Given the description of an element on the screen output the (x, y) to click on. 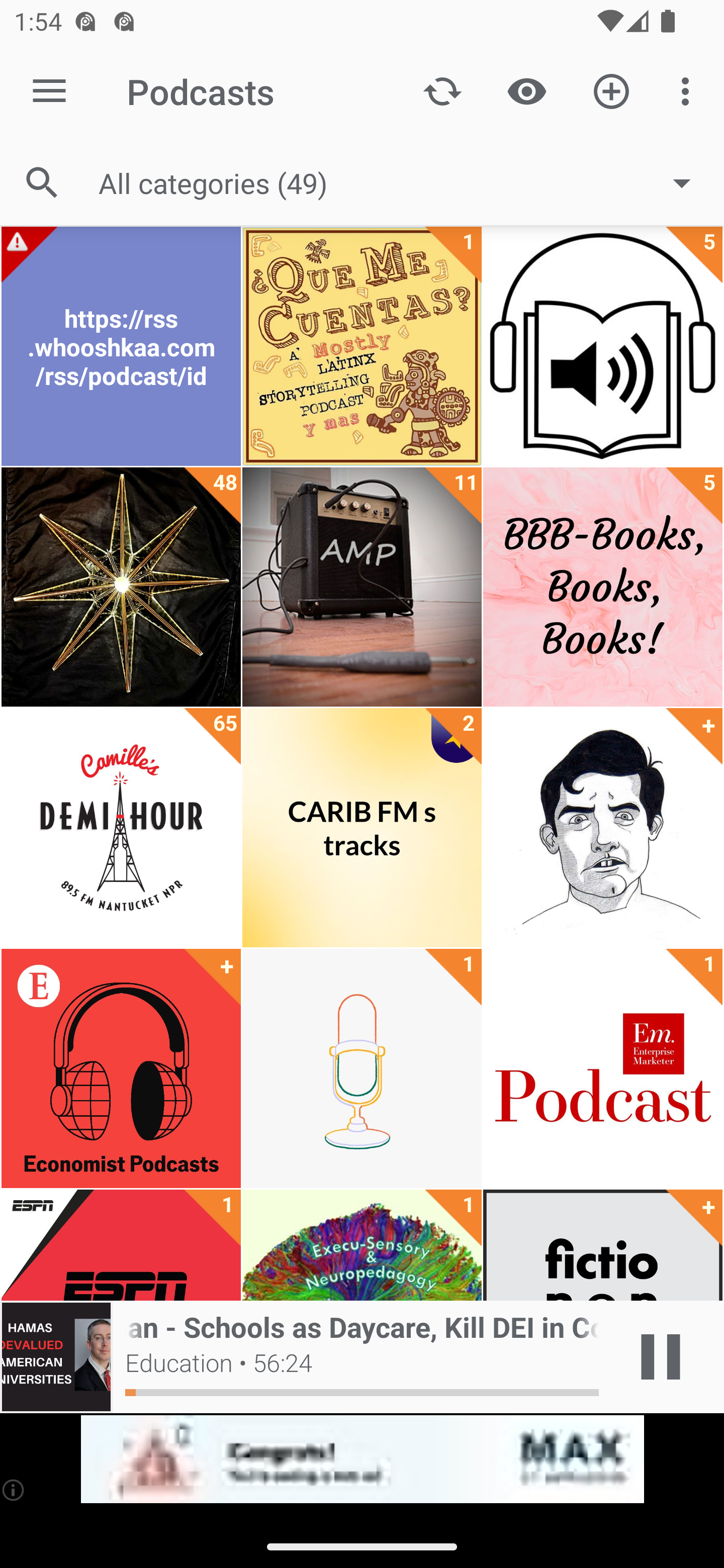
Open navigation sidebar (49, 91)
Update (442, 90)
Show / Hide played content (526, 90)
Add new Podcast (611, 90)
More options (688, 90)
Search (42, 183)
All categories (49) (404, 182)
https://rss.whooshkaa.com/rss/podcast/id/5884 (121, 346)
¿Qué Me Cuentas?: Latinx Storytelling 1 (361, 346)
Audiobooks 5 (602, 346)
Audiobooks 48 (121, 587)
Australian Music Podcasts 11 (361, 587)
BBB-Books, Books, Books! 5 (602, 587)
Camille's Demi-Hour - NANTUCKET NPR 65 (121, 827)
CARIB FM's tracks 2 (361, 827)
Cooking Issues with Dave Arnold + (602, 827)
Economist Podcasts + (121, 1068)
Education 1 (361, 1068)
Enterprise Marketer Podcast - Conference 1 (602, 1068)
Play / Pause (660, 1356)
app-monetization (362, 1459)
(i) (14, 1489)
